Given the description of an element on the screen output the (x, y) to click on. 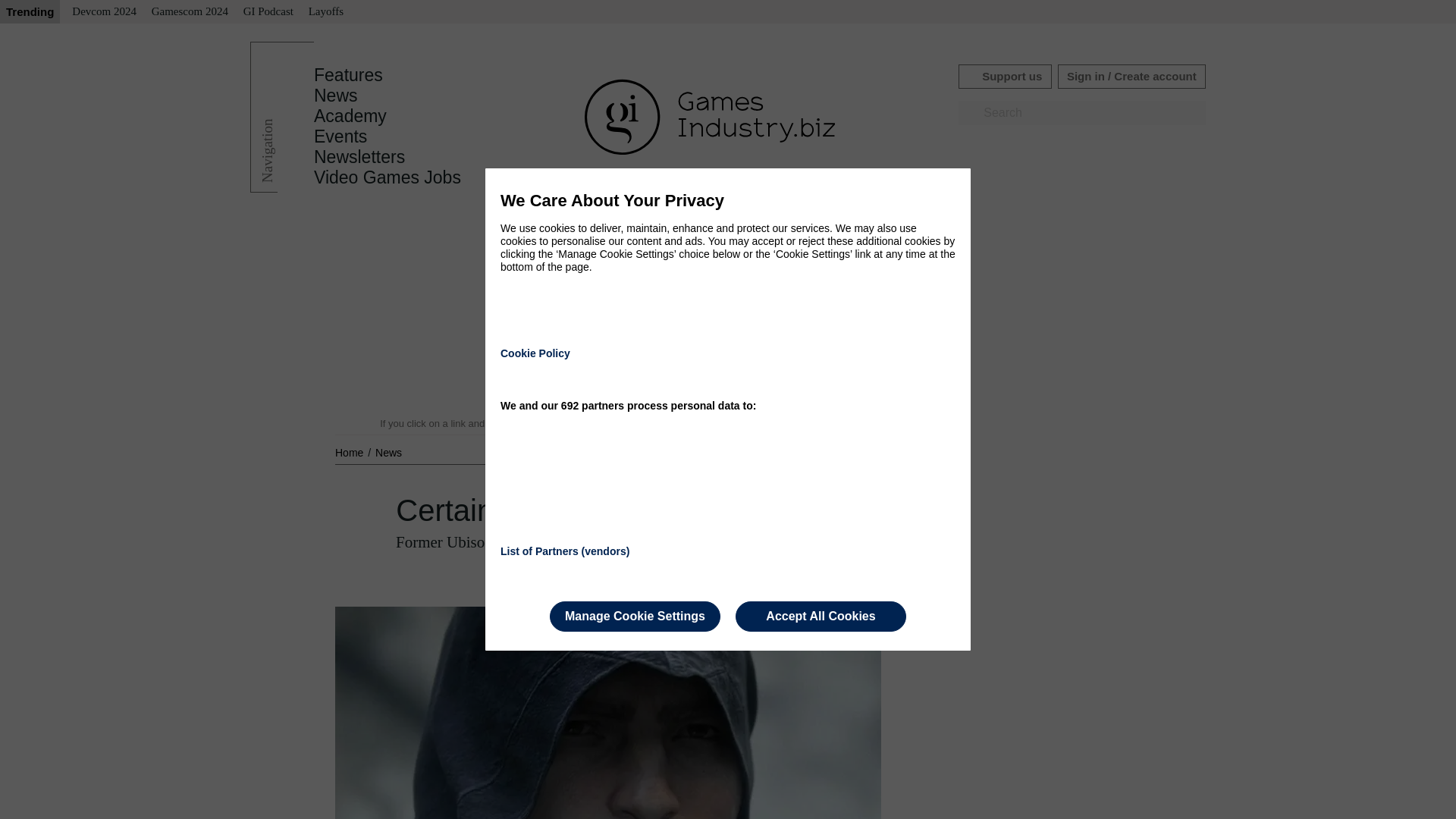
News (336, 95)
Academy (350, 116)
Features (348, 75)
Newsletters (359, 157)
News (388, 452)
Home (350, 452)
Gamescom 2024 (189, 11)
Support us (1004, 75)
Layoffs (325, 11)
Events (340, 136)
